Given the description of an element on the screen output the (x, y) to click on. 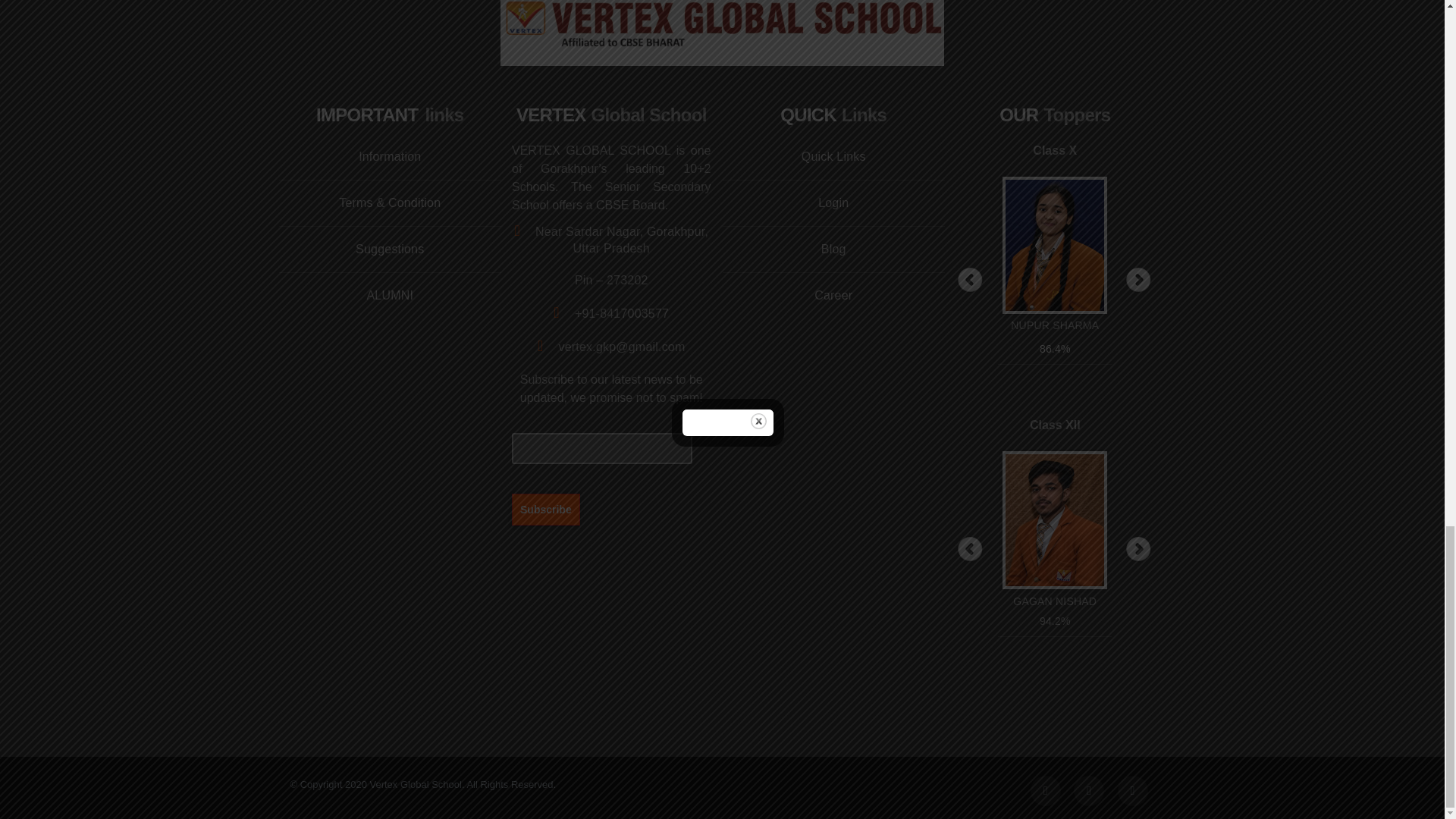
Subscribe (545, 508)
